Given the description of an element on the screen output the (x, y) to click on. 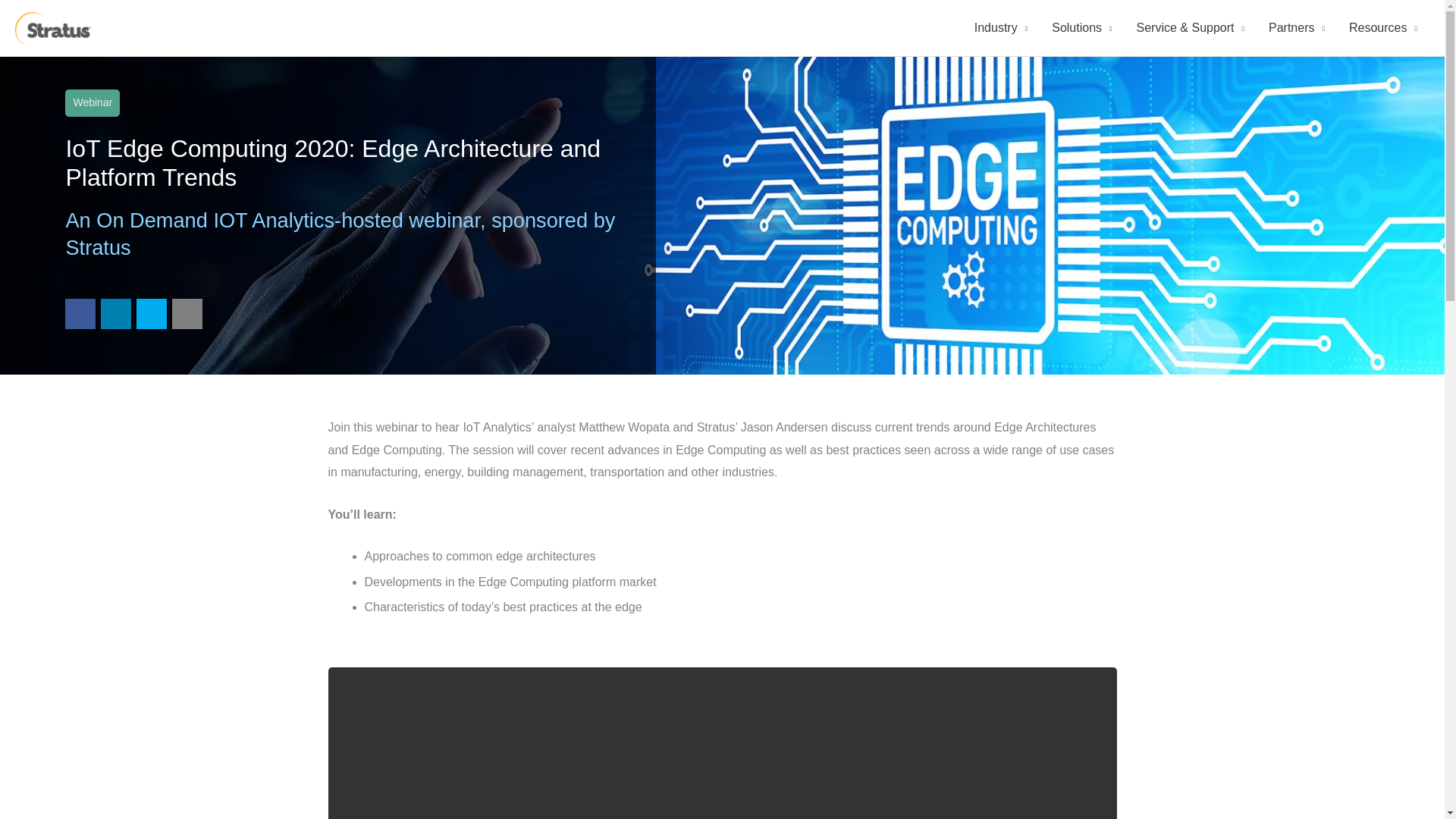
Partners (1296, 28)
Solutions (1081, 28)
Industry (1000, 28)
